Given the description of an element on the screen output the (x, y) to click on. 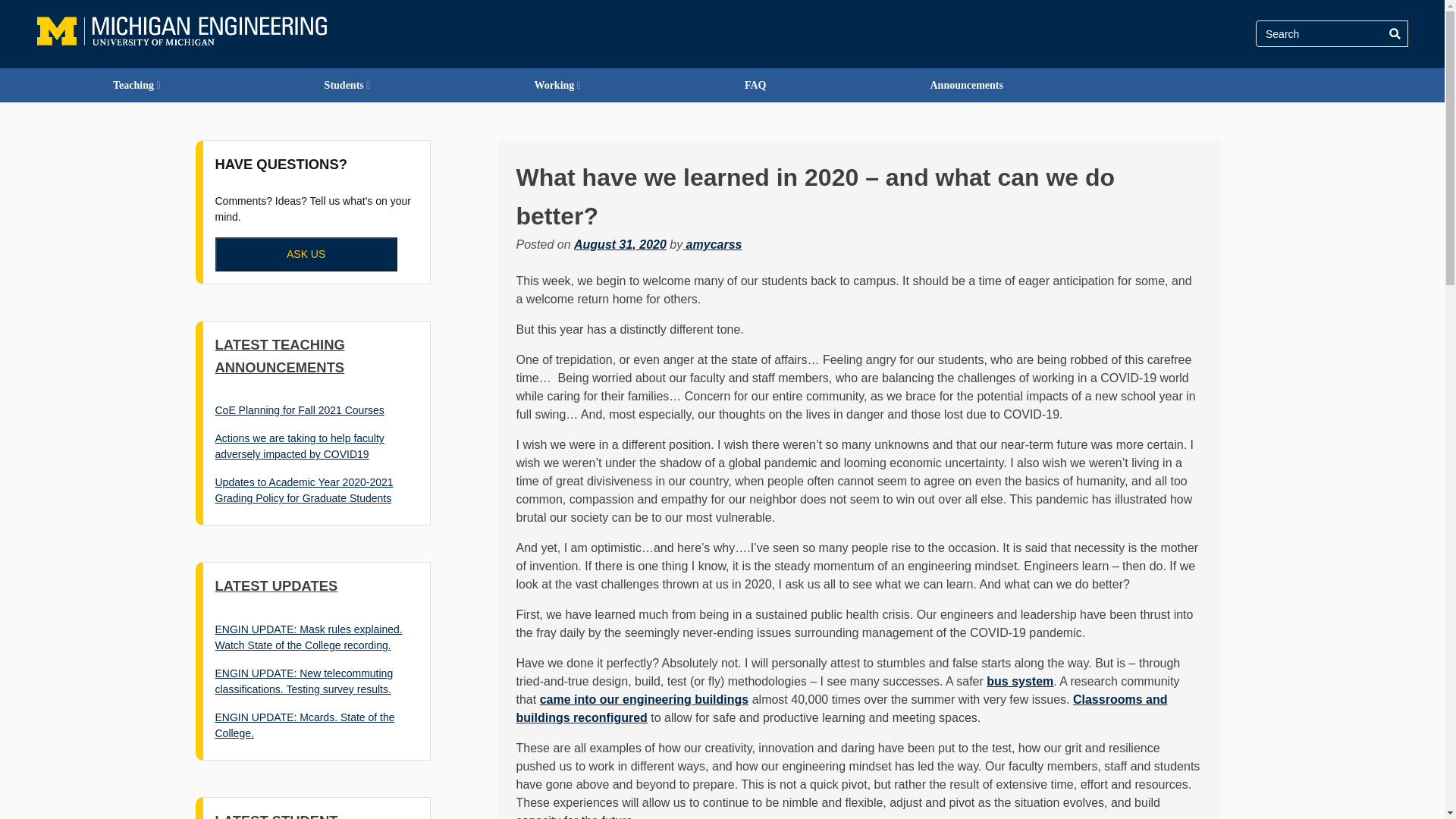
ASK US (306, 254)
Working (556, 85)
ENGIN UPDATE: Mcards. State of the College. (304, 725)
CoE Planning for Fall 2021 Courses (299, 410)
LATEST STUDENT ANNOUNCEMENTS (280, 816)
Working (556, 85)
LATEST TEACHING ANNOUNCEMENTS (280, 355)
Students (347, 85)
Students (347, 85)
